Given the description of an element on the screen output the (x, y) to click on. 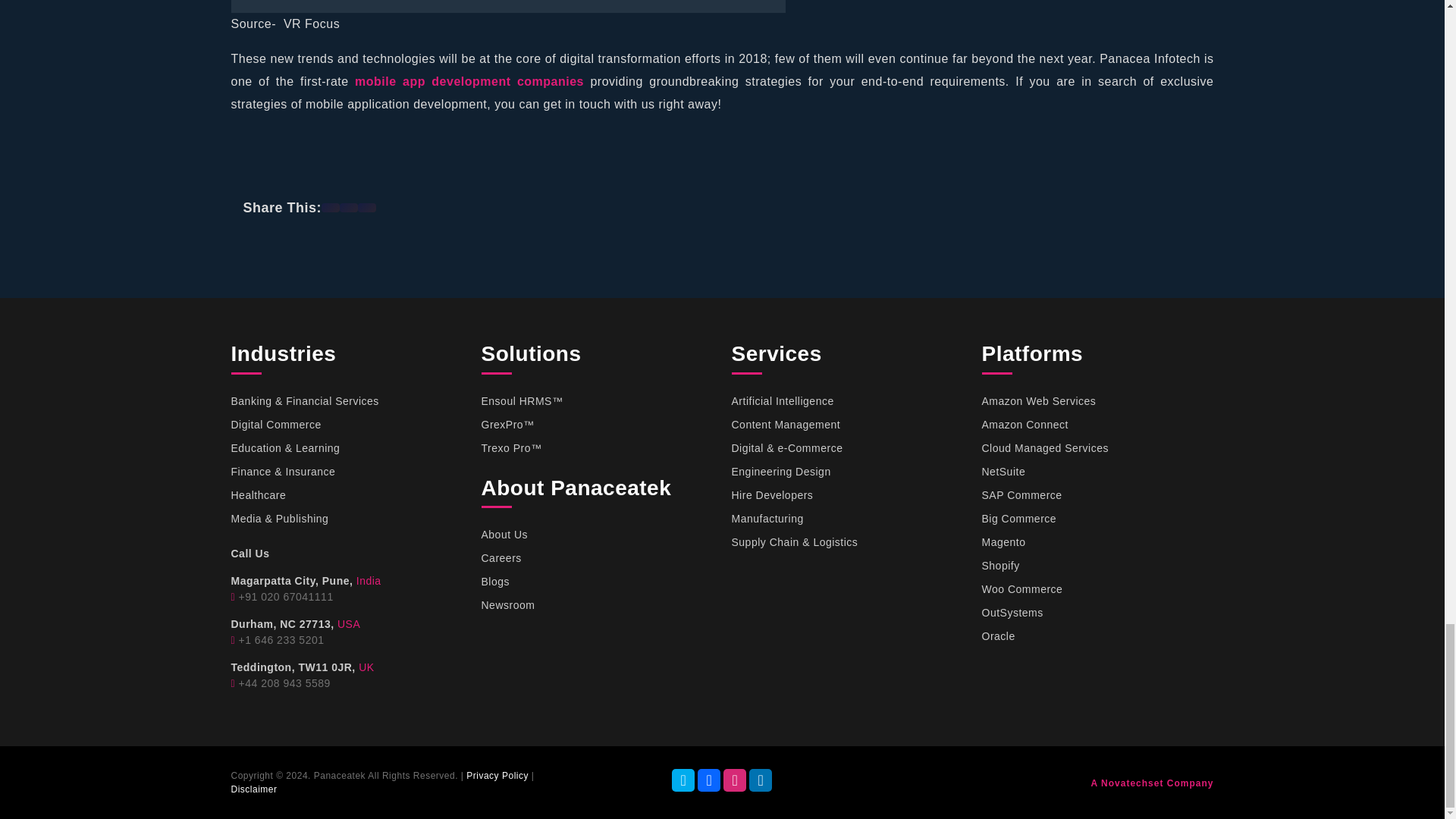
Instagram (734, 780)
Linkedin (760, 780)
Facebook (708, 780)
Twitter (682, 780)
